Given the description of an element on the screen output the (x, y) to click on. 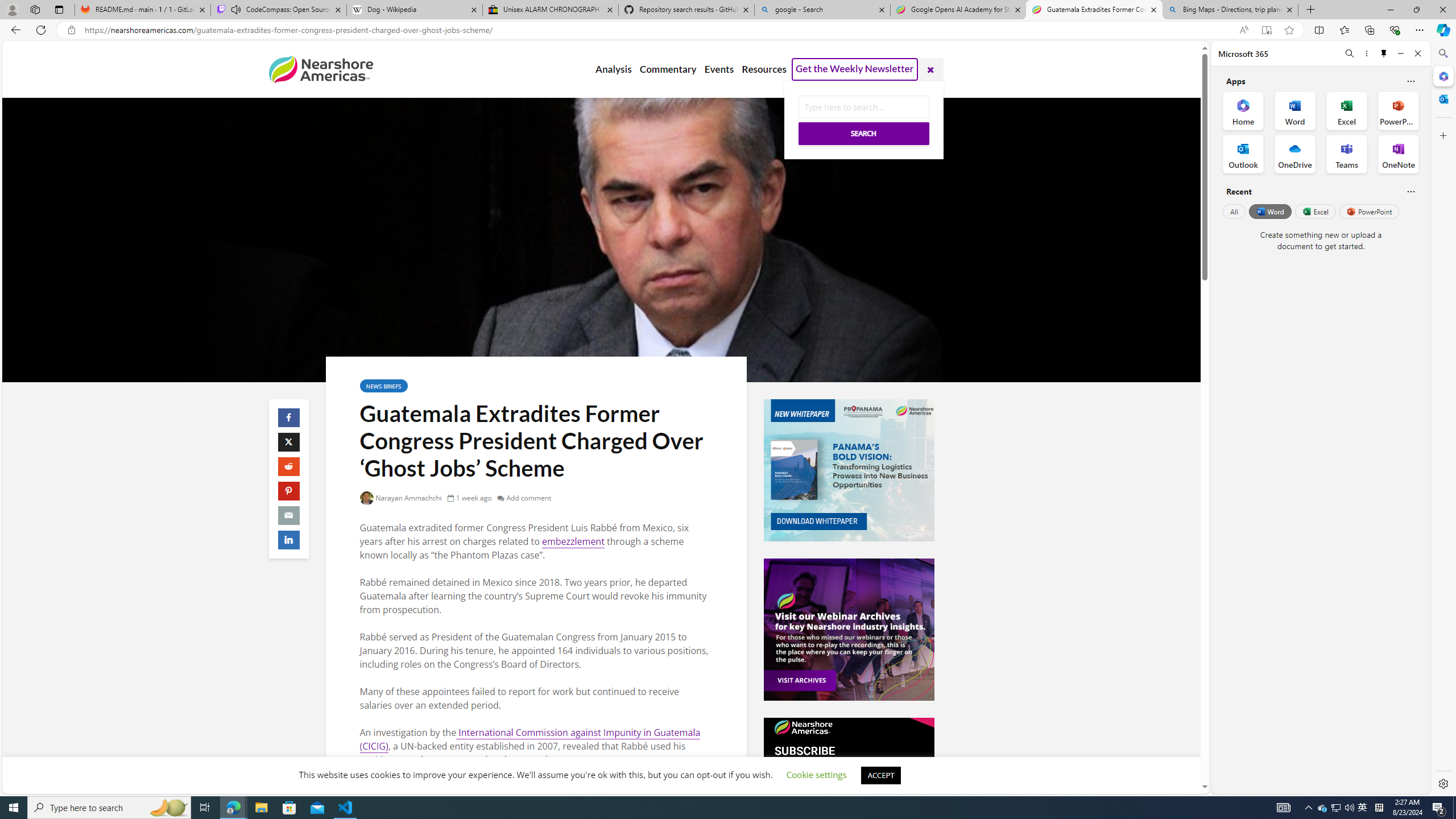
Nearshore Americas (319, 68)
embezzlement (572, 540)
Mute tab (235, 8)
NEWS BRIEFS (383, 385)
Resources (763, 69)
Analysis (613, 69)
